Given the description of an element on the screen output the (x, y) to click on. 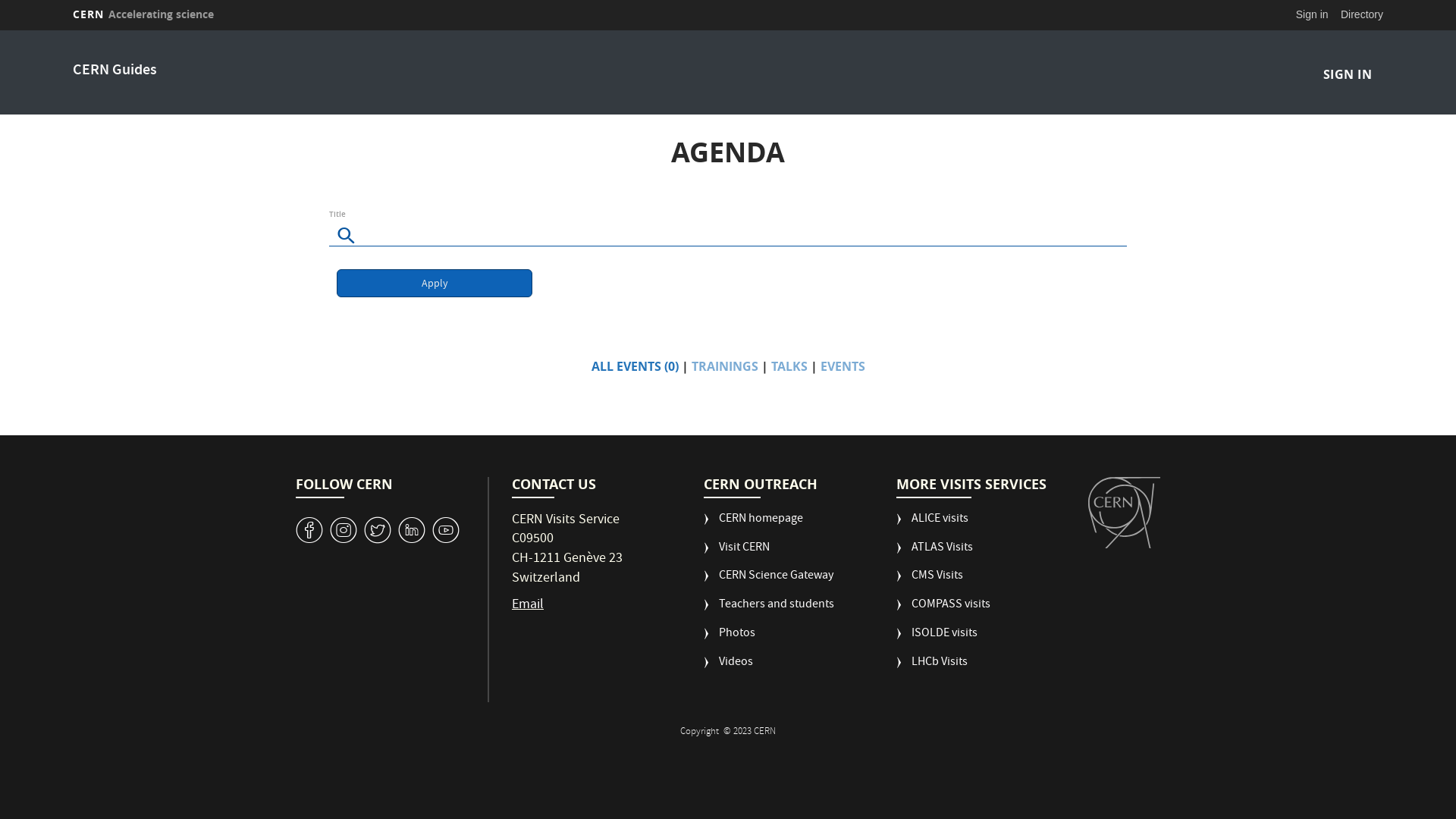
TALKS Element type: text (788, 365)
Email Element type: text (527, 605)
LHCb Visits Element type: text (931, 668)
CERN homepage Element type: text (753, 525)
CERN Accelerating science Element type: text (142, 14)
Copyright Element type: text (700, 731)
1 Element type: text (445, 530)
CMS Visits Element type: text (929, 581)
Skip to main content Element type: text (0, 30)
CERN Guides Element type: text (114, 70)
Teachers and students Element type: text (768, 610)
COMPASS visits Element type: text (943, 610)
Photos Element type: text (729, 639)
Apply Element type: text (434, 283)
CERN Element type: hover (1124, 512)
Videos Element type: text (728, 668)
M Element type: text (411, 530)
ISOLDE visits Element type: text (936, 639)
v Element type: text (309, 530)
Sign in Element type: text (1311, 14)
J Element type: text (343, 530)
Directory Element type: text (1361, 14)
EVENTS Element type: text (842, 365)
ATLAS Visits Element type: text (934, 553)
ALICE visits Element type: text (932, 525)
SIGN IN Element type: text (1346, 74)
ALL EVENTS (0) Element type: text (634, 365)
Visit CERN Element type: text (736, 553)
CERN Science Gateway Element type: text (768, 581)
W Element type: text (377, 530)
TRAININGS Element type: text (724, 365)
